Given the description of an element on the screen output the (x, y) to click on. 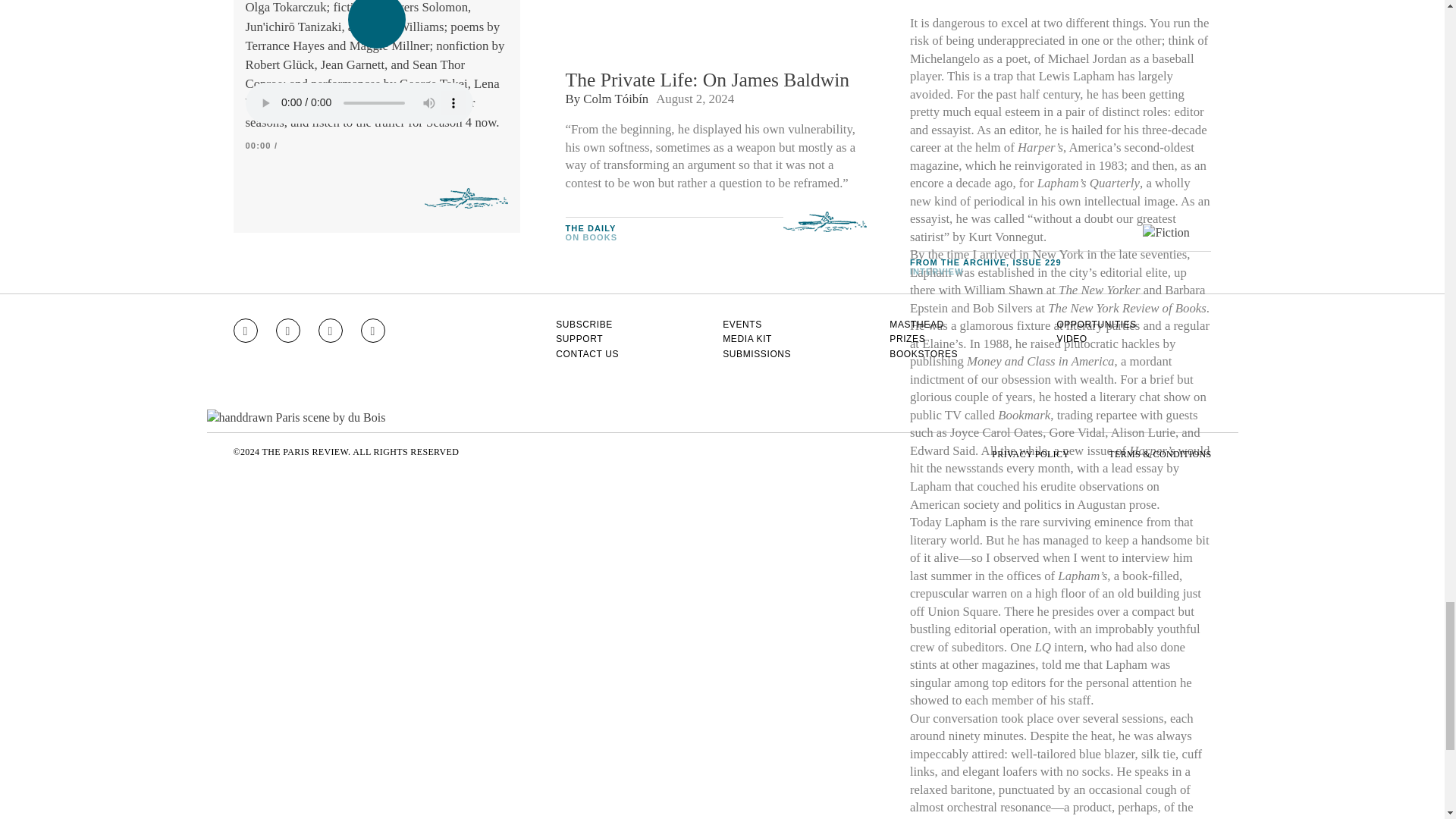
Go to Instagram feed (244, 330)
Go to Twitter feed (330, 330)
Go to RSS feed (373, 330)
Go to Facebook page (287, 330)
